Given the description of an element on the screen output the (x, y) to click on. 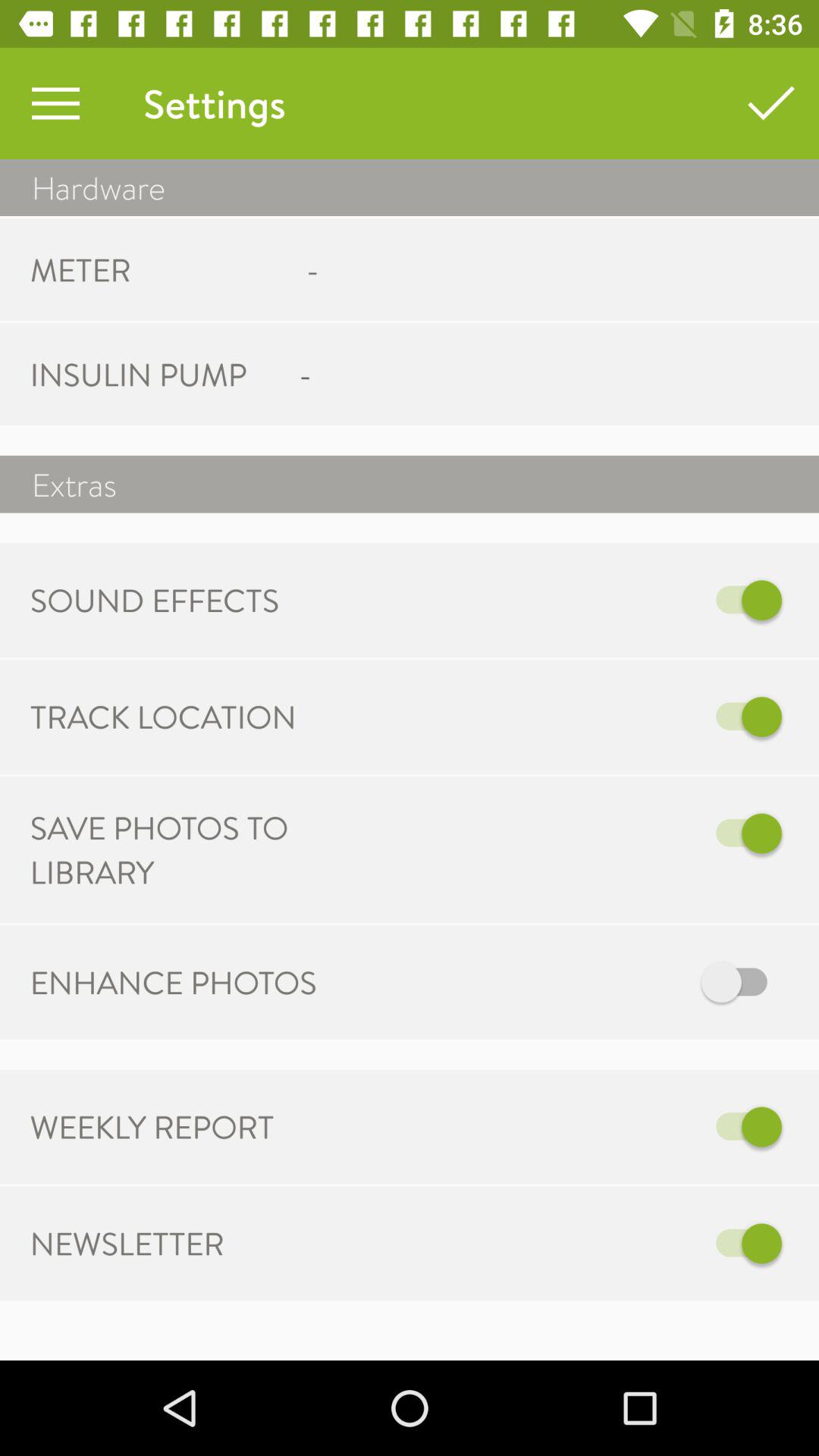
toggle save photos to library (566, 833)
